Given the description of an element on the screen output the (x, y) to click on. 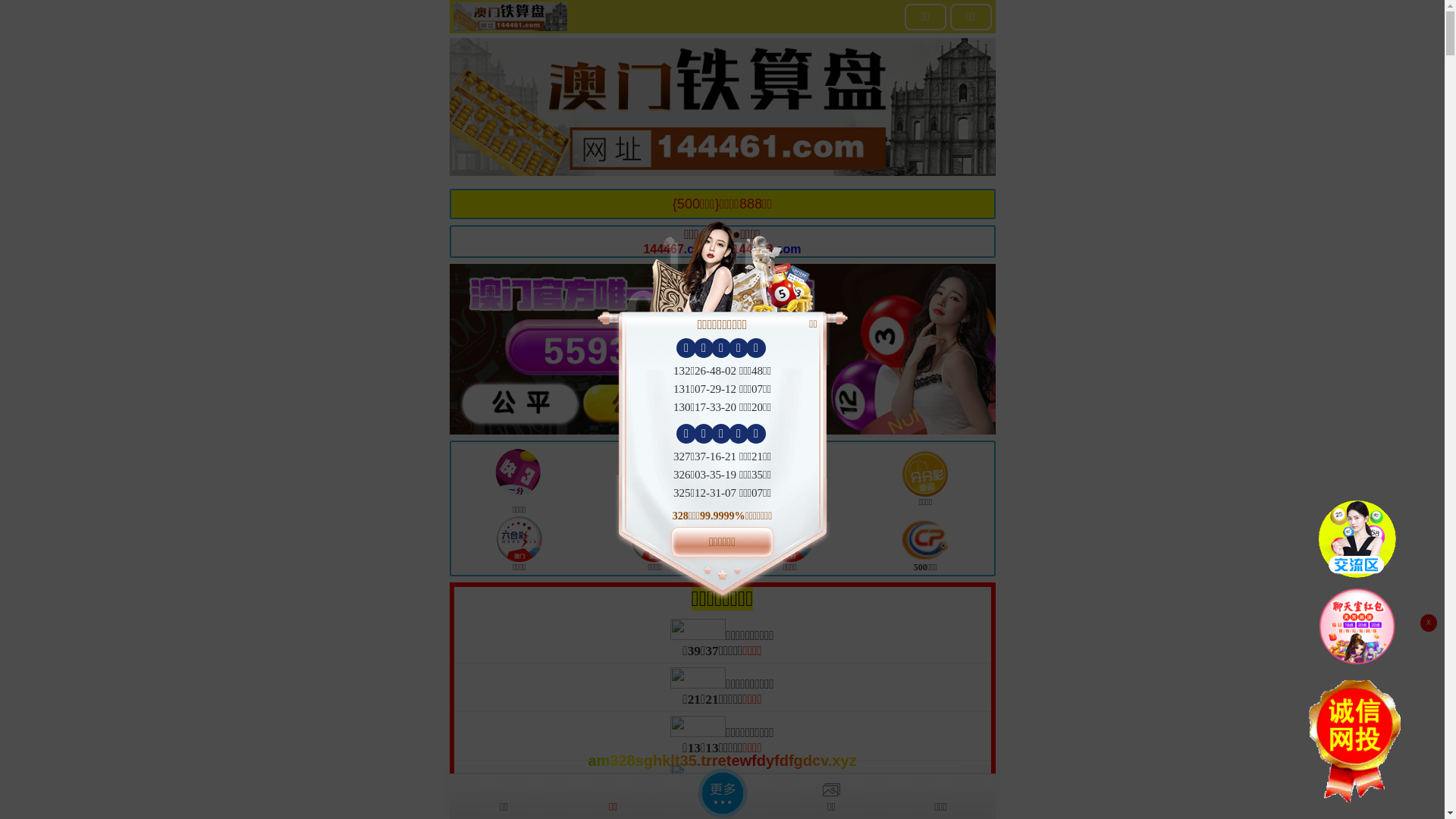
x Element type: text (1428, 622)
